Given the description of an element on the screen output the (x, y) to click on. 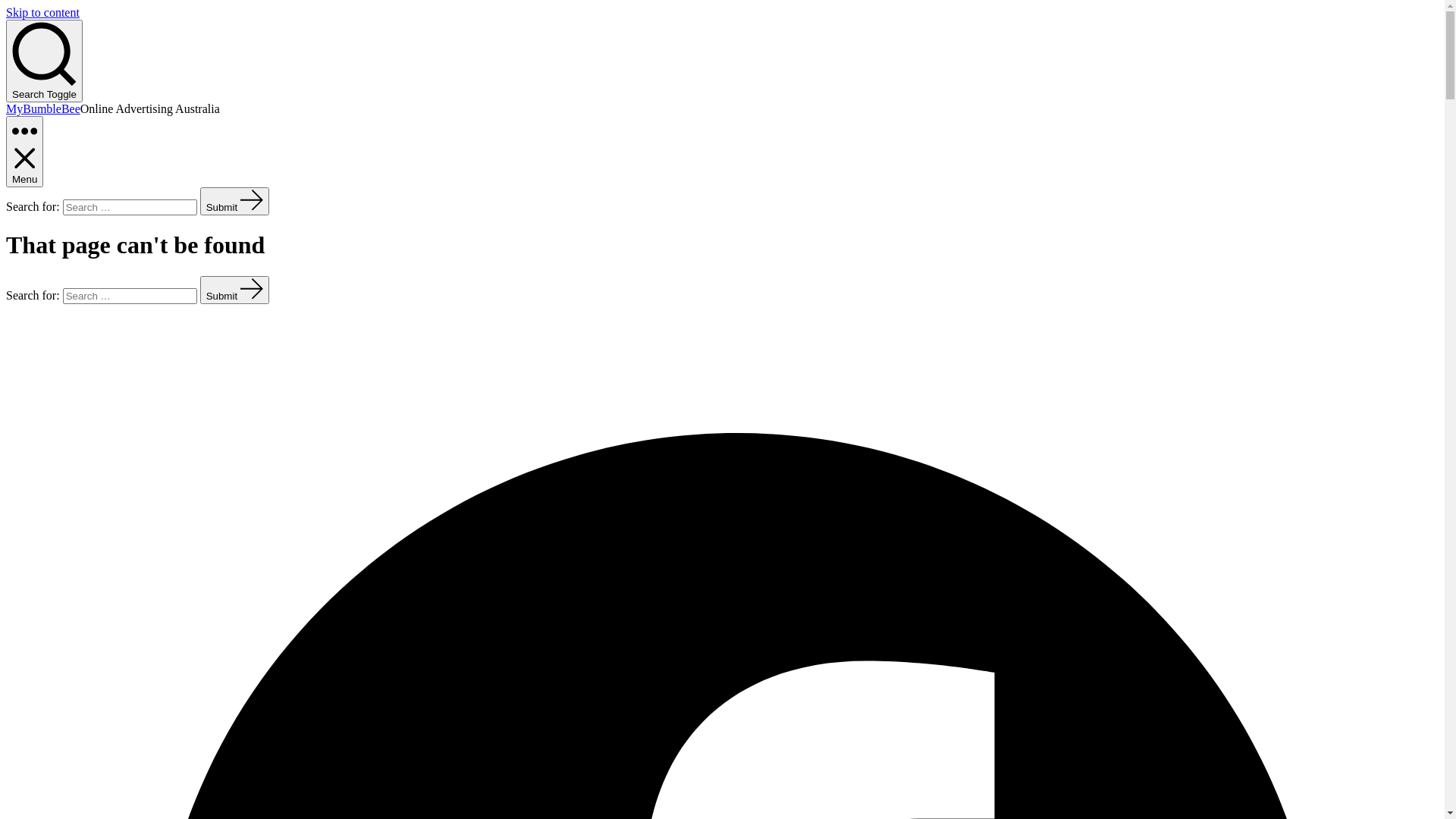
MyBumbleBee Element type: text (43, 108)
Submit Element type: text (234, 201)
Skip to content Element type: text (42, 12)
Submit Element type: text (234, 290)
Menu Element type: text (24, 151)
Search Toggle Element type: text (44, 60)
